Given the description of an element on the screen output the (x, y) to click on. 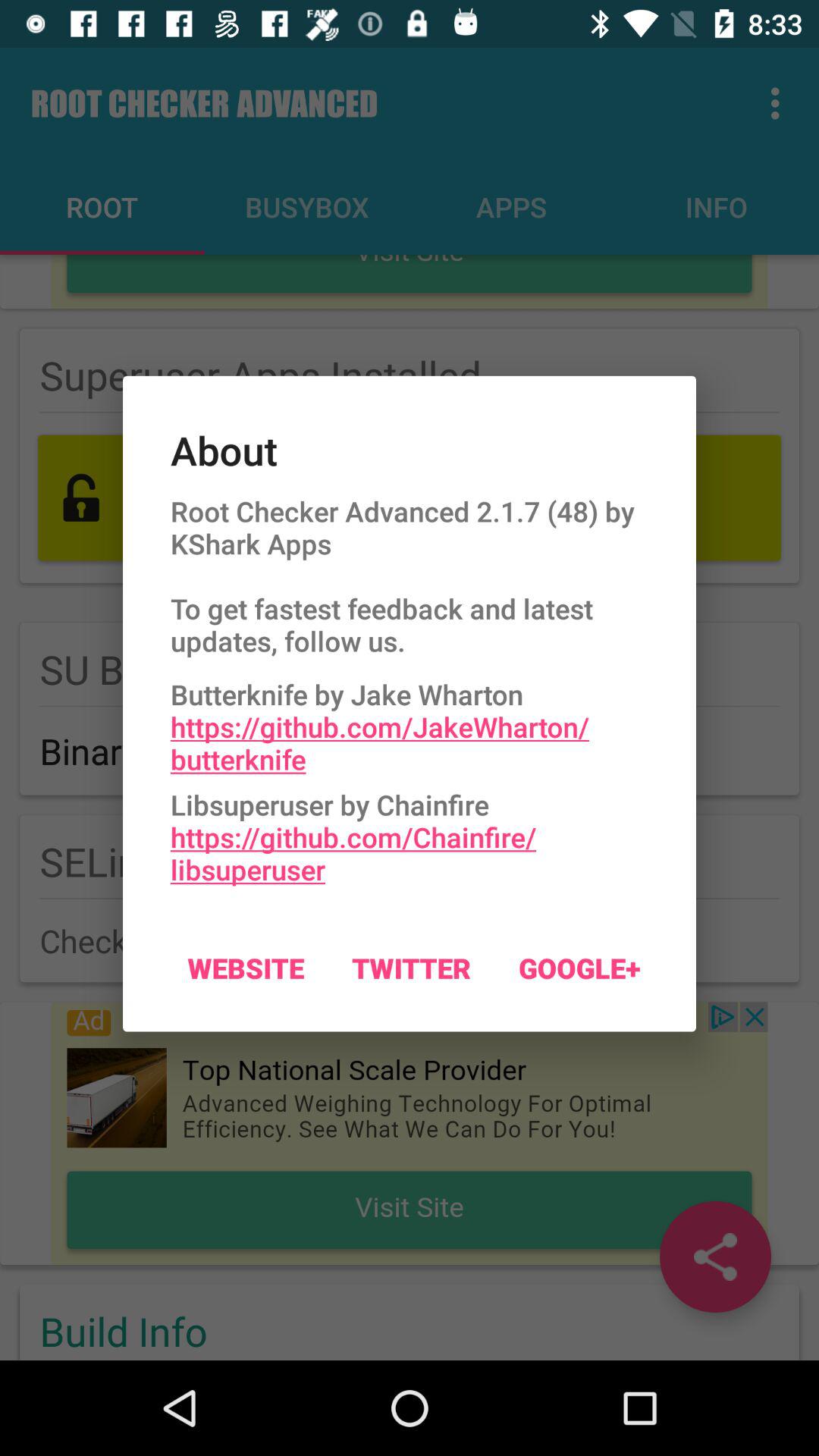
open the icon to the right of twitter item (579, 967)
